Given the description of an element on the screen output the (x, y) to click on. 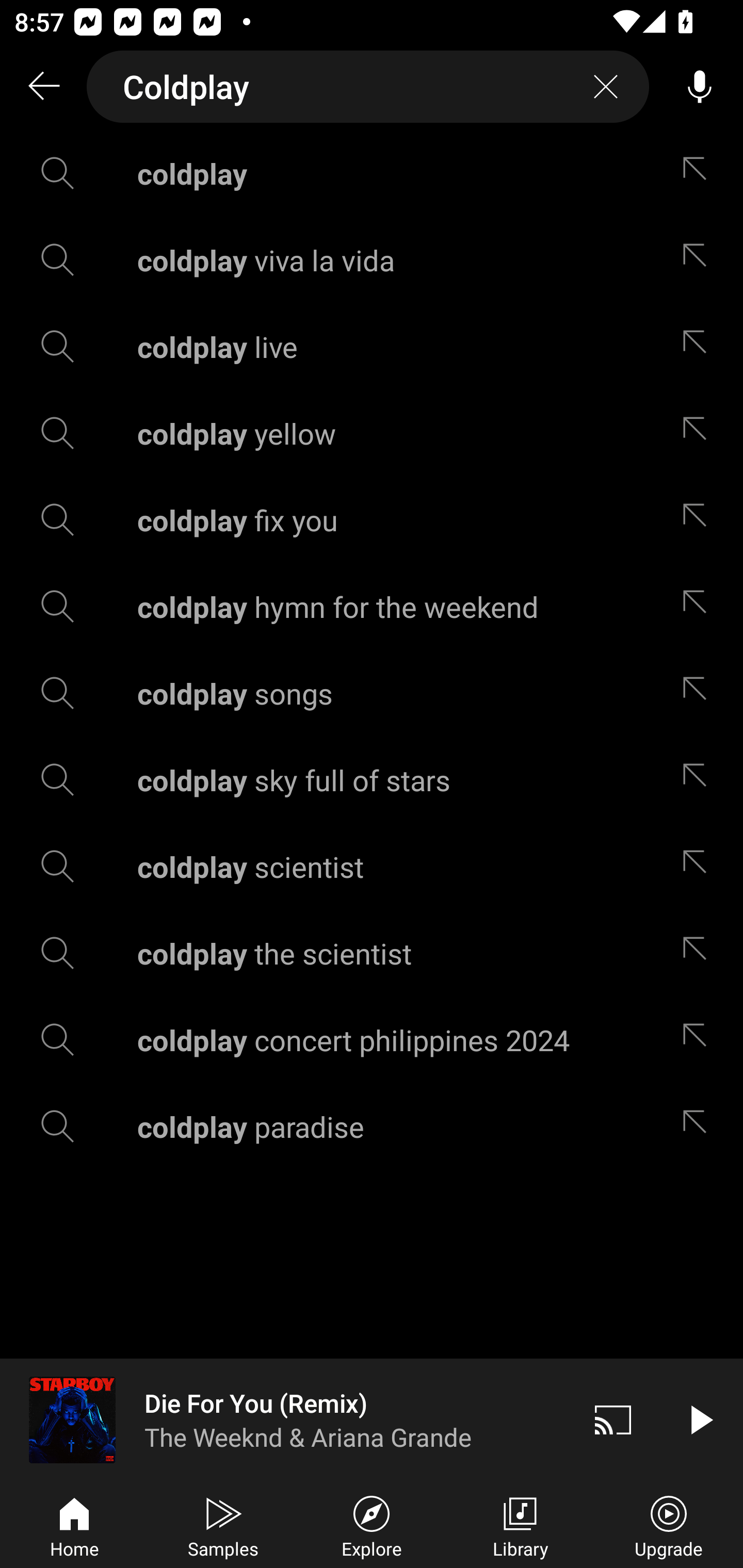
Search back (43, 86)
Coldplay (367, 86)
Clear search (605, 86)
Voice search (699, 86)
coldplay Edit suggestion coldplay (371, 173)
Edit suggestion coldplay (699, 173)
Edit suggestion coldplay viva la vida (699, 259)
coldplay live Edit suggestion coldplay live (371, 346)
Edit suggestion coldplay live (699, 346)
coldplay yellow Edit suggestion coldplay yellow (371, 433)
Edit suggestion coldplay yellow (699, 433)
coldplay fix you Edit suggestion coldplay fix you (371, 519)
Edit suggestion coldplay fix you (699, 519)
Edit suggestion coldplay hymn for the weekend (699, 605)
coldplay songs Edit suggestion coldplay songs (371, 692)
Edit suggestion coldplay songs (699, 692)
Edit suggestion coldplay sky full of stars (699, 779)
Edit suggestion coldplay scientist (699, 866)
Edit suggestion coldplay the scientist (699, 953)
Edit suggestion coldplay concert philippines 2024 (699, 1040)
Edit suggestion coldplay paradise (699, 1126)
Die For You (Remix) The Weeknd & Ariana Grande (284, 1419)
Cast. Disconnected (612, 1419)
Play video (699, 1419)
Home (74, 1524)
Samples (222, 1524)
Explore (371, 1524)
Library (519, 1524)
Upgrade (668, 1524)
